Given the description of an element on the screen output the (x, y) to click on. 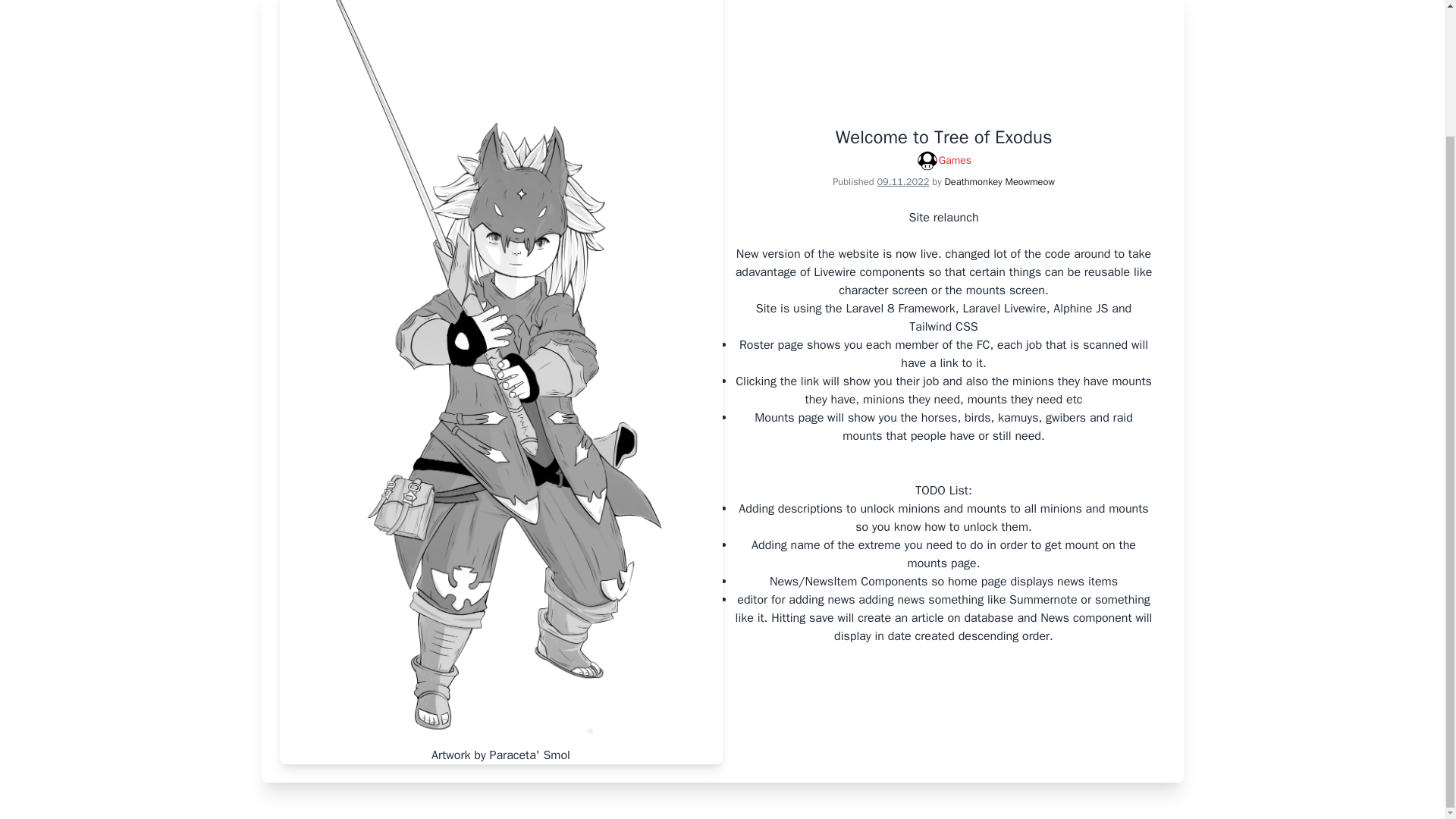
Laravel 8 Framework (900, 308)
Tailwind CSS (942, 326)
Alphine JS (1080, 308)
Summernote (1043, 599)
Deathmonkey Meowmeow (998, 182)
Laravel Livewire (1003, 308)
